Given the description of an element on the screen output the (x, y) to click on. 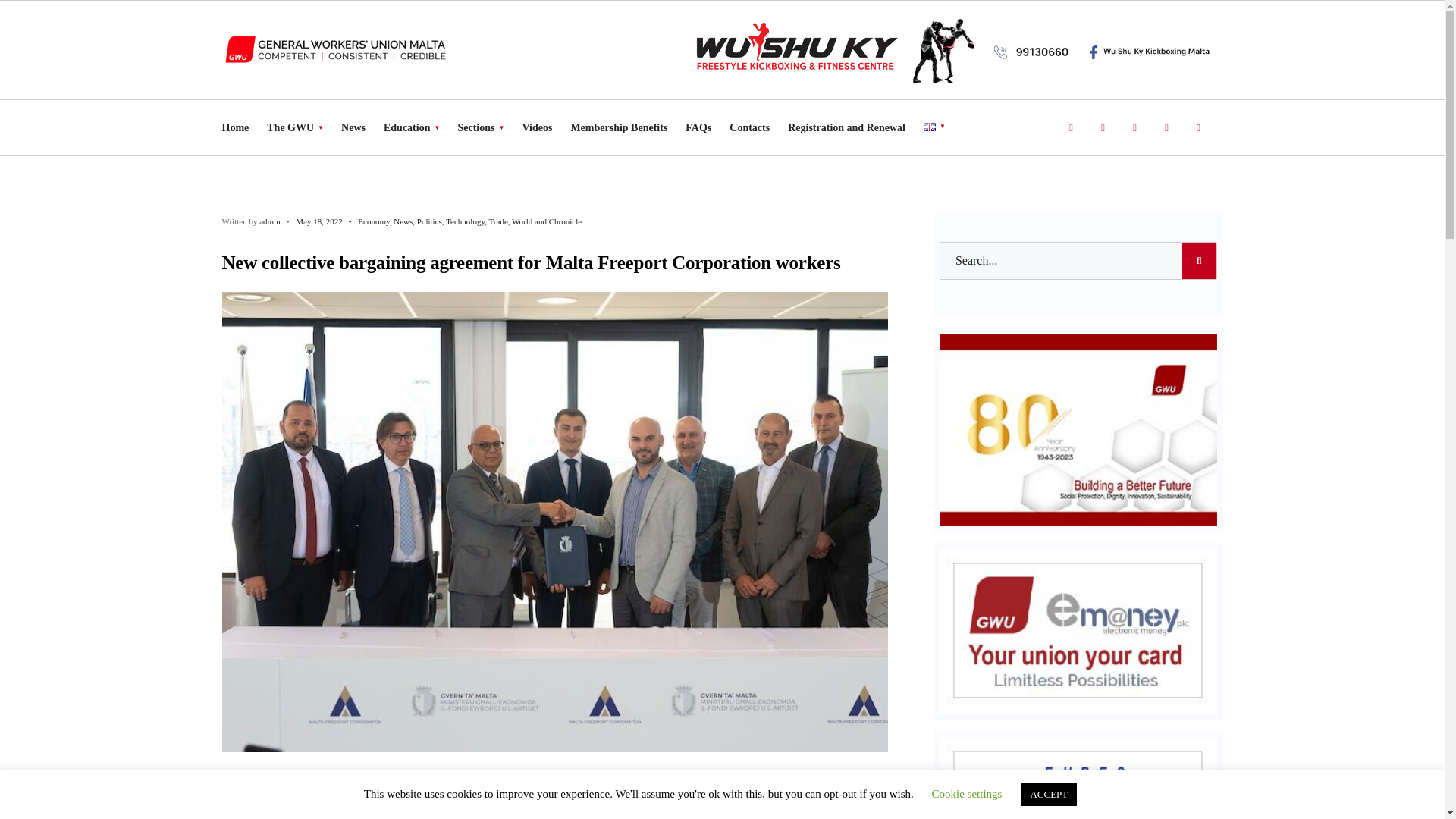
LinkedIn (1197, 128)
Search... (1078, 260)
Sections (480, 127)
Facebook (1070, 128)
Instagram (1134, 128)
Membership Benefits (618, 127)
Contacts (749, 127)
Twitter (1102, 128)
Education (411, 127)
YouTube (1165, 128)
